Given the description of an element on the screen output the (x, y) to click on. 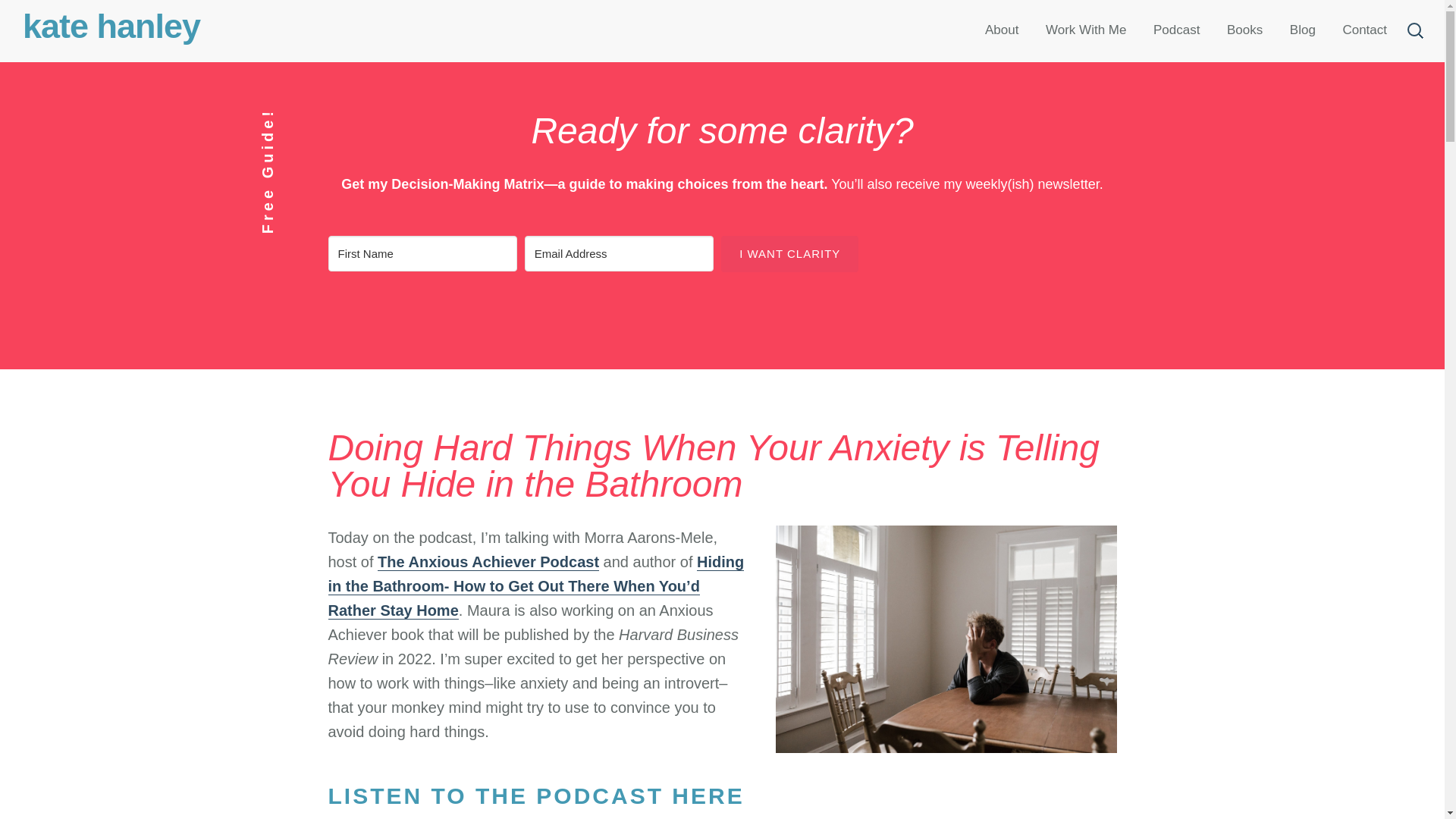
Search (49, 21)
About (1001, 29)
Podcast (1176, 29)
Work With Me (1085, 29)
Blog (1302, 29)
Contact (1363, 29)
The Anxious Achiever Podcast (487, 561)
Books (1244, 29)
